Given the description of an element on the screen output the (x, y) to click on. 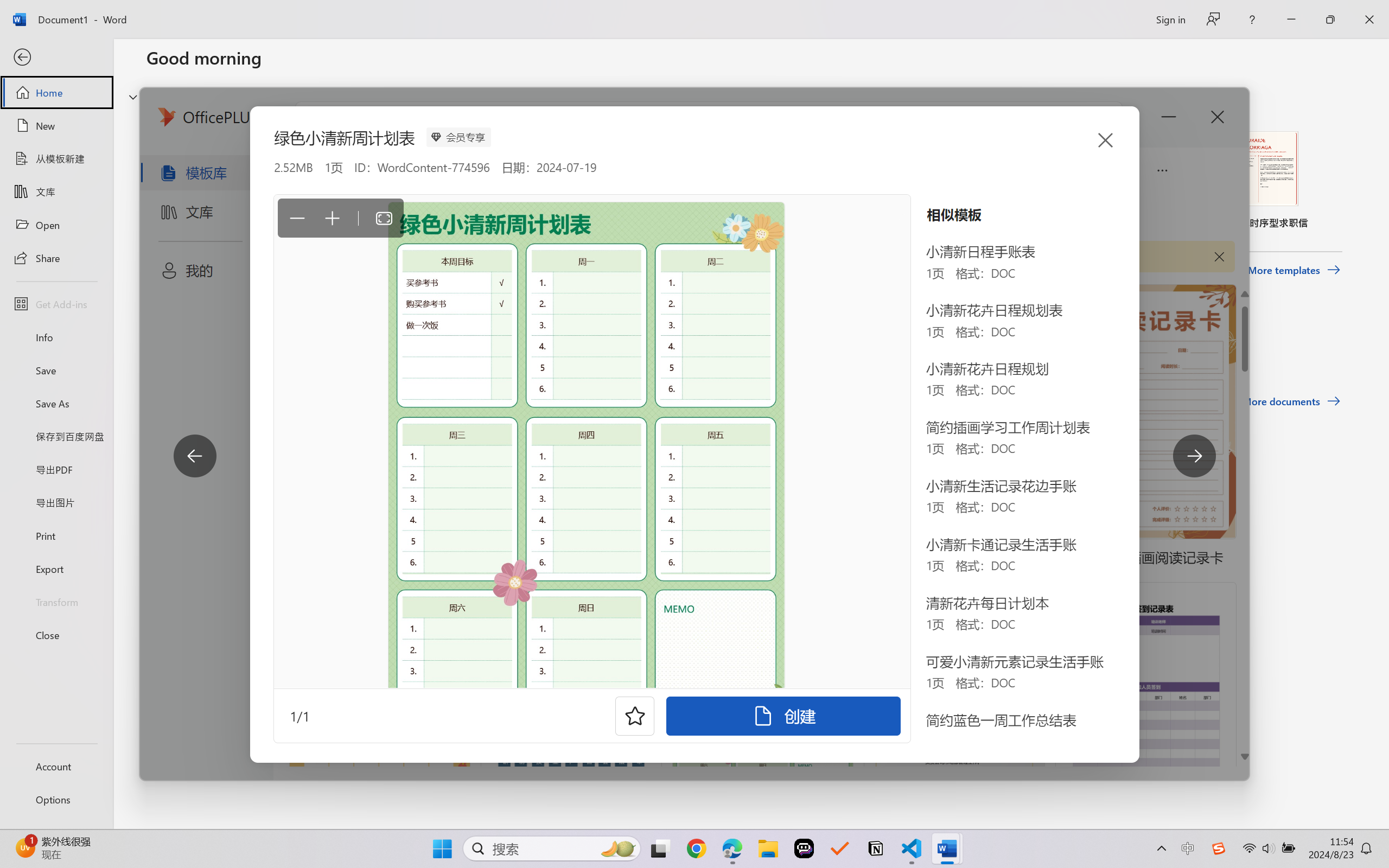
Save As (56, 403)
Hide or show region (133, 96)
Print (56, 535)
Back (56, 57)
Shared with Me (305, 345)
